Given the description of an element on the screen output the (x, y) to click on. 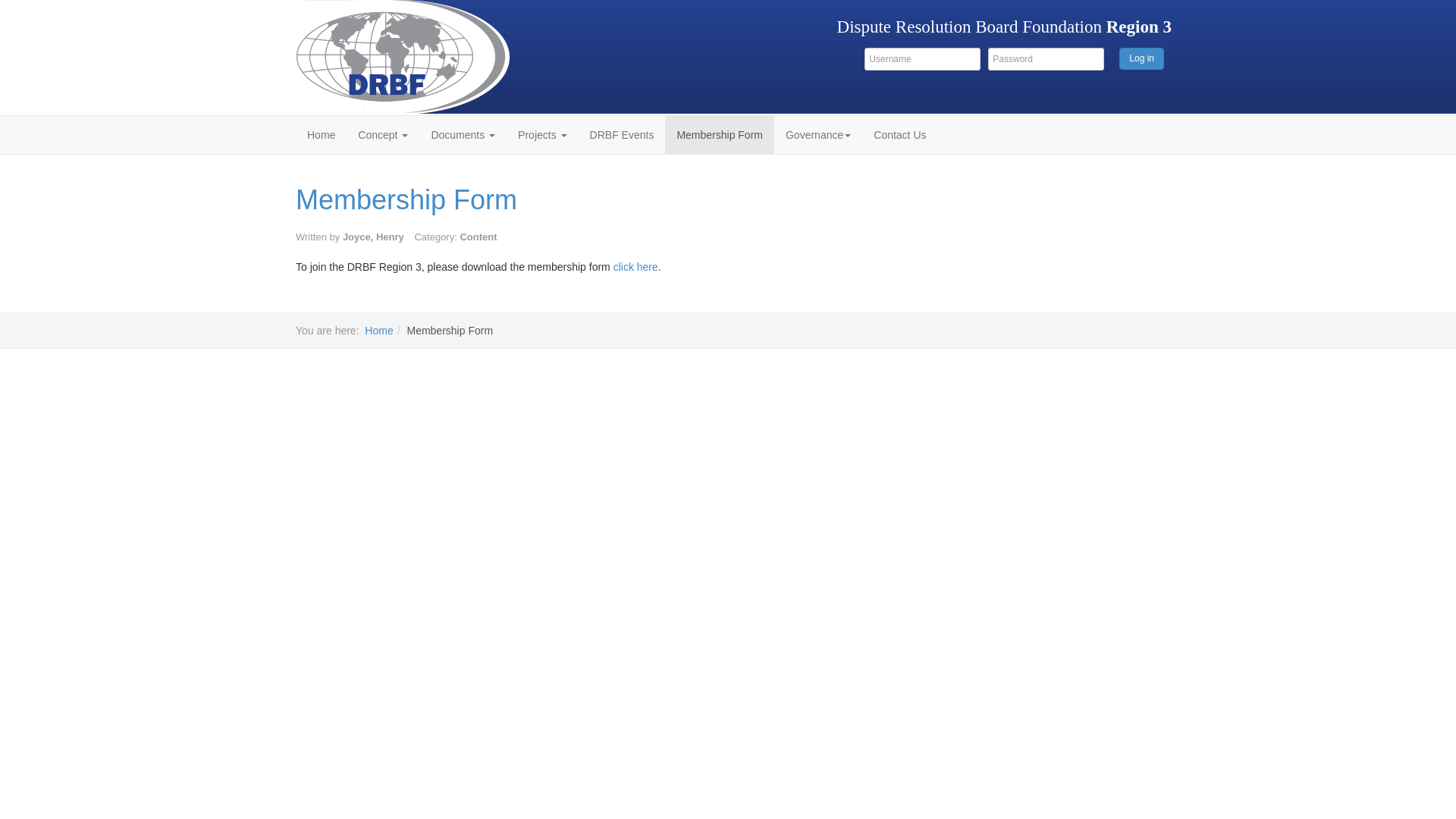
Documents Element type: text (462, 134)
Membership Form Element type: text (406, 199)
Projects Element type: text (541, 134)
Governance Element type: text (818, 134)
click here Element type: text (635, 266)
dbrf Element type: hover (396, 57)
DRBF Events Element type: text (621, 134)
Home Element type: text (320, 134)
Log in Element type: text (1141, 58)
Concept Element type: text (382, 134)
Contact Us Element type: text (899, 134)
Membership Form Element type: text (719, 134)
Home Element type: text (378, 330)
